Given the description of an element on the screen output the (x, y) to click on. 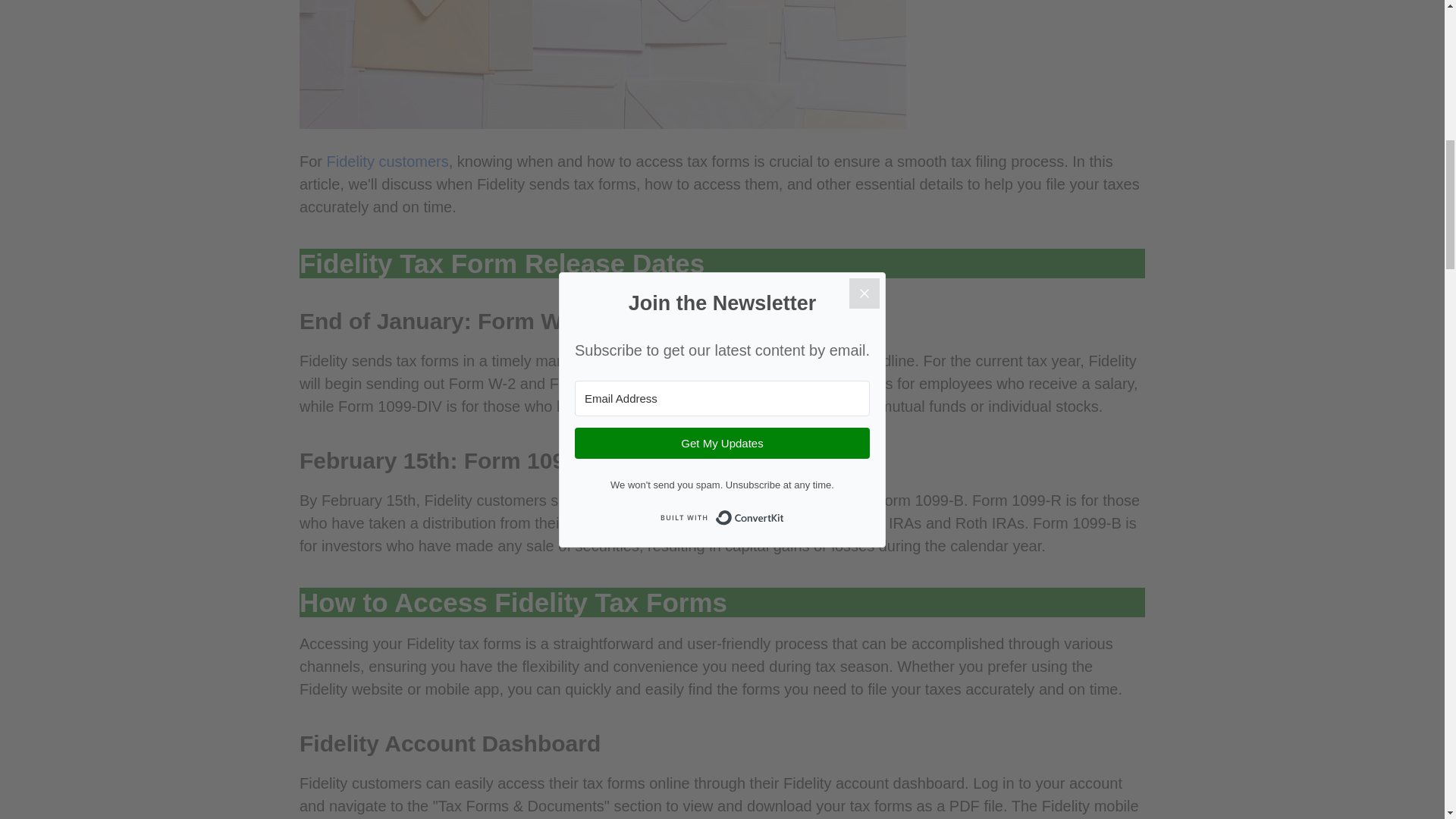
Fidelity customers (387, 161)
